Given the description of an element on the screen output the (x, y) to click on. 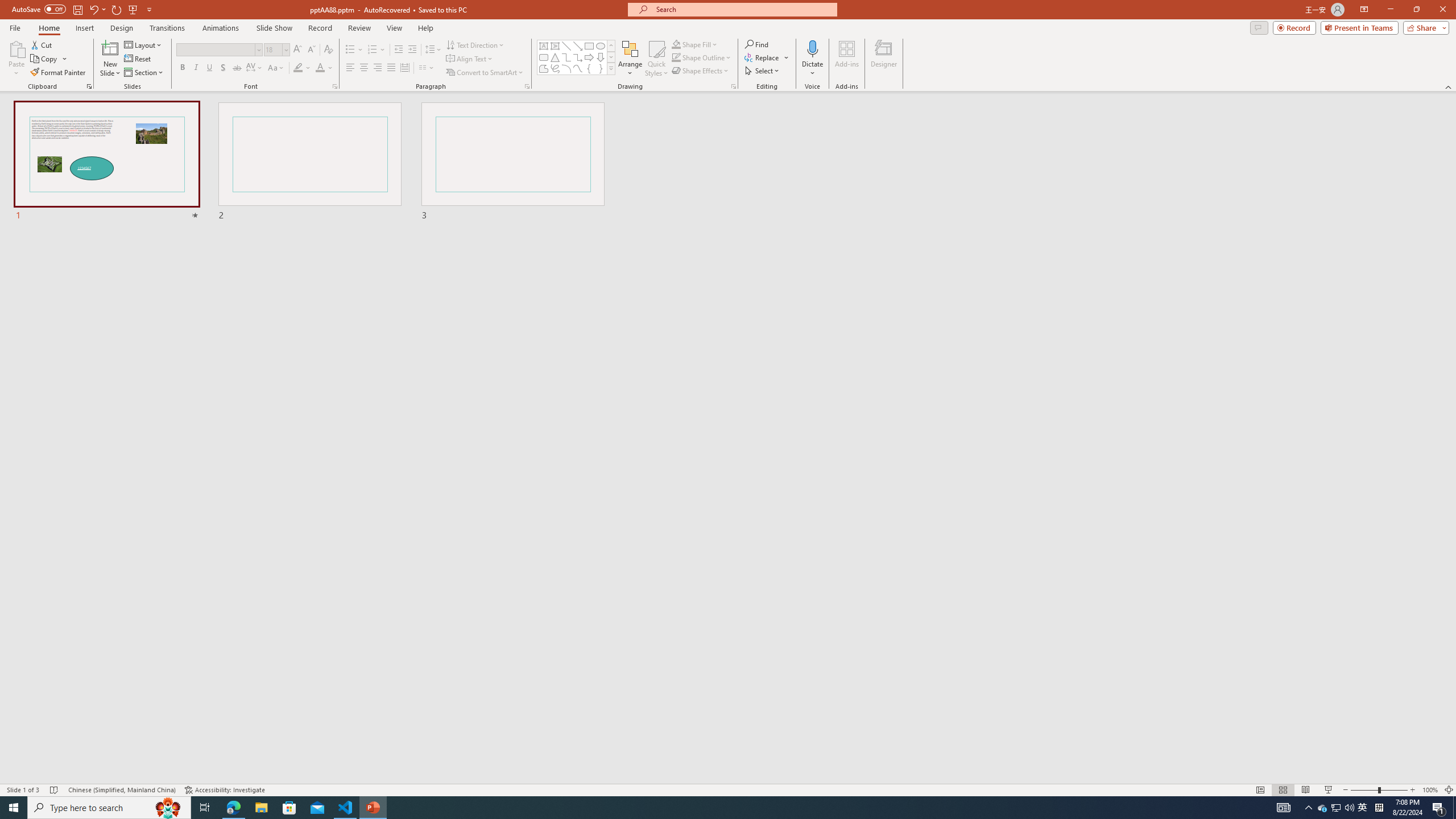
Paragraph... (526, 85)
